Given the description of an element on the screen output the (x, y) to click on. 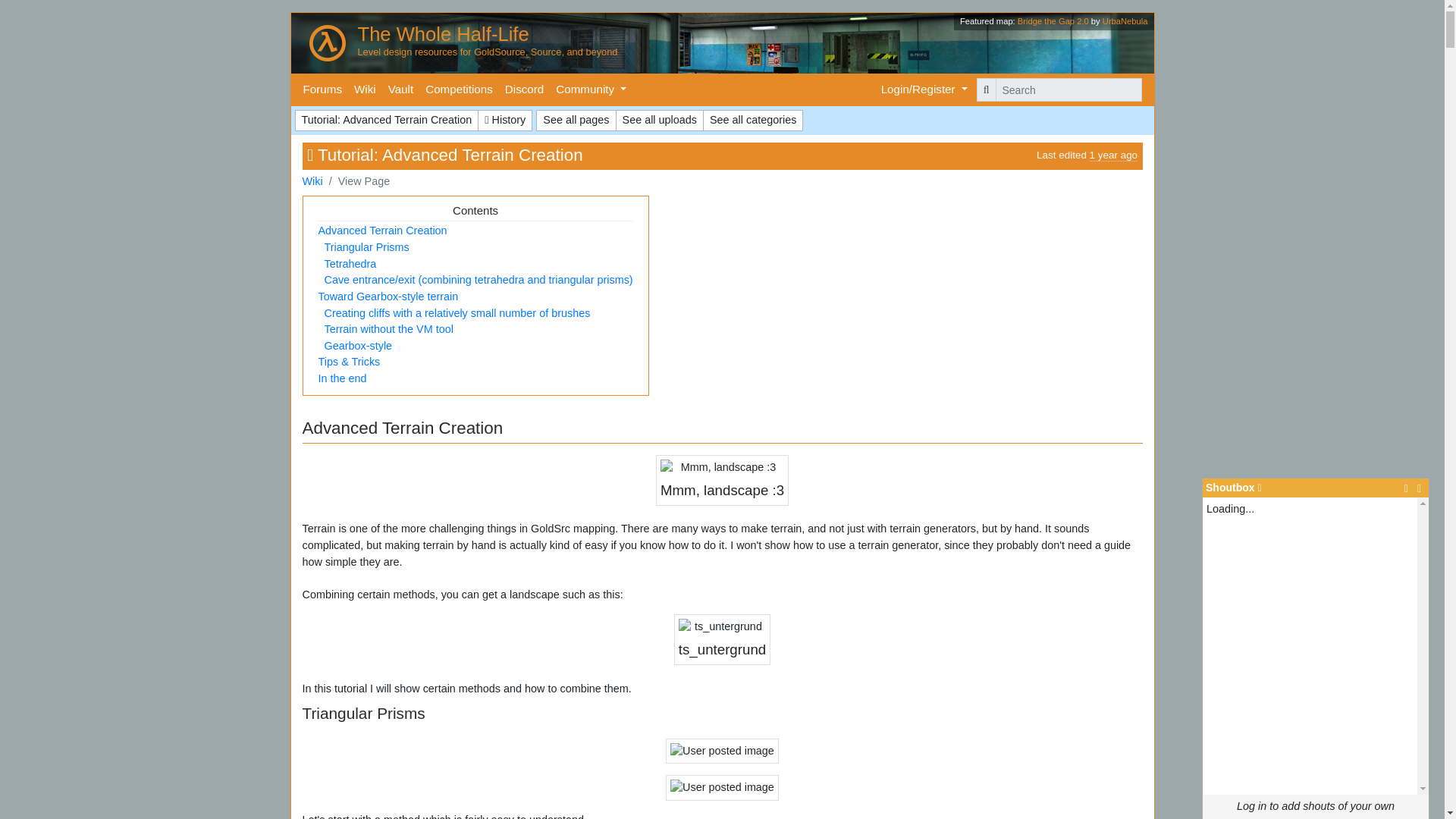
Tutorial: Advanced Terrain Creation (386, 120)
2022-10-10 22:40:33 UTC (1113, 155)
Discord (524, 89)
Wiki (364, 89)
See all uploads (659, 120)
Forums (322, 89)
Vault (400, 89)
See all pages (575, 120)
Bridge the Gap 2.0 (1053, 20)
History (504, 120)
Competitions (459, 89)
Mmm, landscape :3 (721, 482)
Community (590, 89)
UrbaNebula (1125, 20)
